Given the description of an element on the screen output the (x, y) to click on. 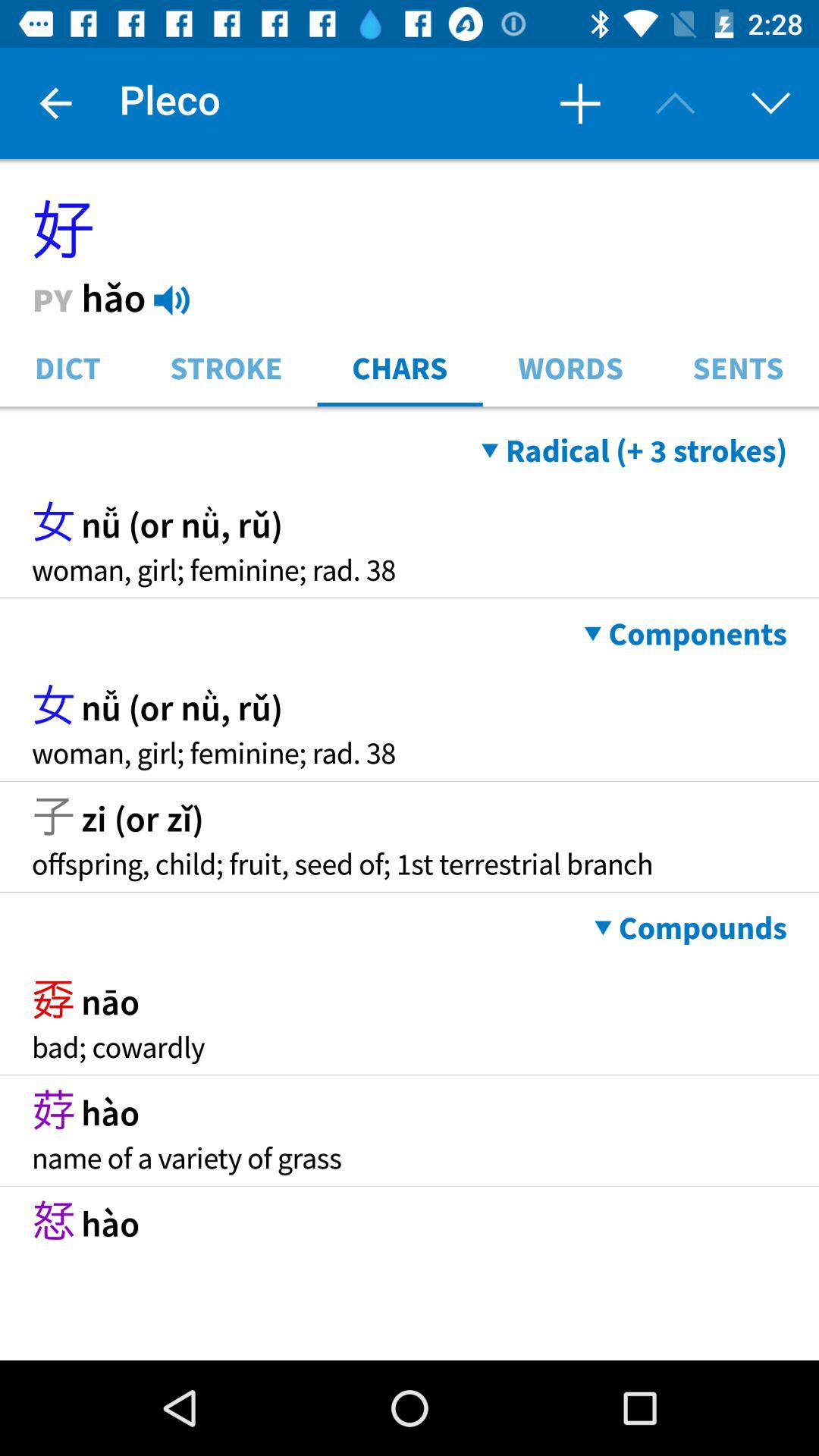
press the  compounds icon (690, 928)
